Given the description of an element on the screen output the (x, y) to click on. 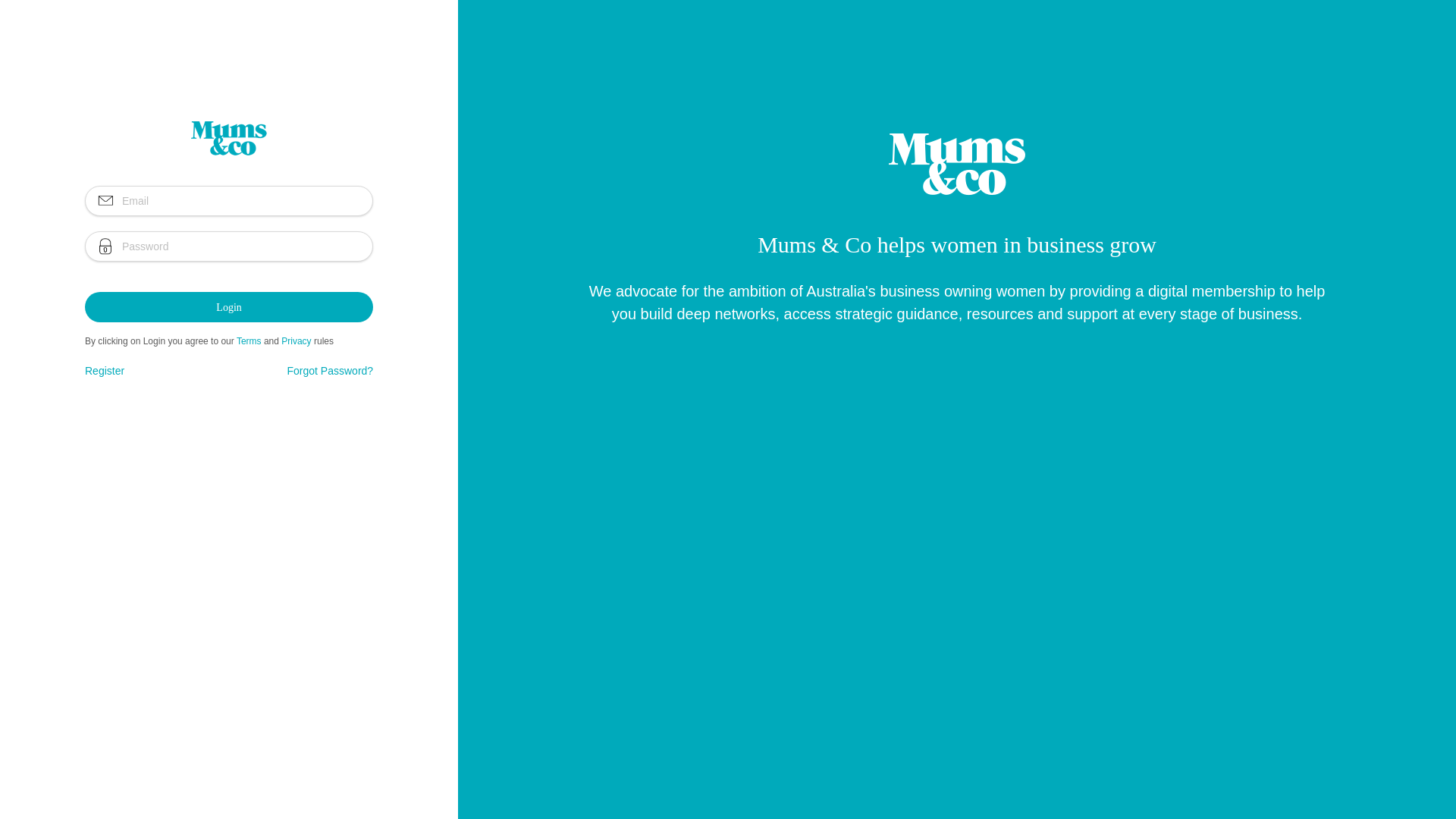
Register Element type: text (104, 370)
Terms Element type: text (248, 340)
Forgot Password? Element type: text (330, 370)
Login Element type: text (228, 306)
Forgot Password? Element type: text (330, 371)
Privacy Element type: text (295, 340)
Register Element type: text (104, 371)
